Given the description of an element on the screen output the (x, y) to click on. 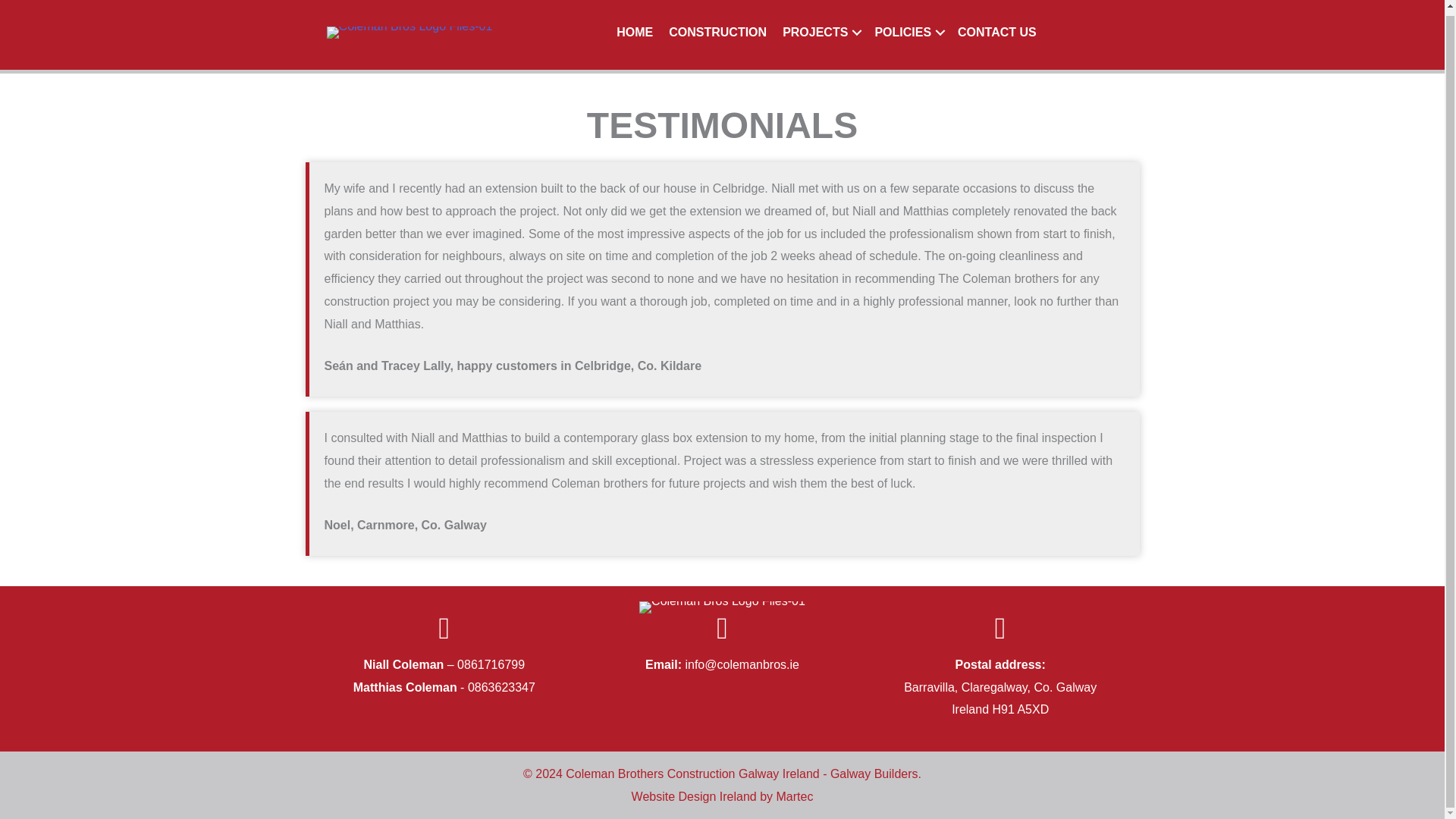
Coleman Bros Logo Files-01 (409, 32)
CONTACT US (996, 32)
PROJECTS (820, 32)
Website Design Ireland (694, 796)
Coleman Bros Logo Files-01 (722, 607)
Website Design Galway (694, 796)
POLICIES (907, 32)
CONSTRUCTION (717, 32)
HOME (634, 32)
Martec (794, 796)
